Given the description of an element on the screen output the (x, y) to click on. 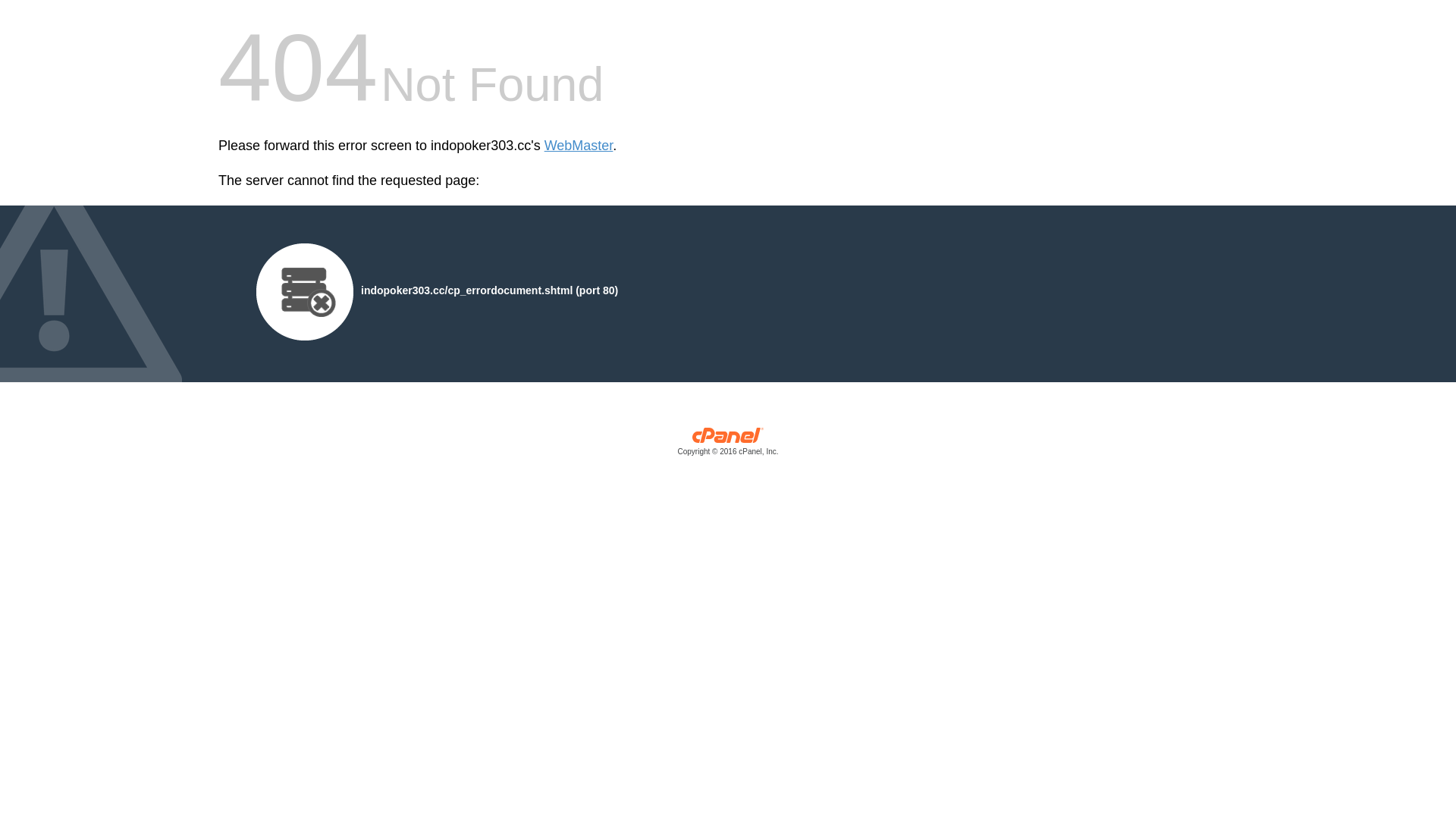
WebMaster Element type: text (578, 145)
